Given the description of an element on the screen output the (x, y) to click on. 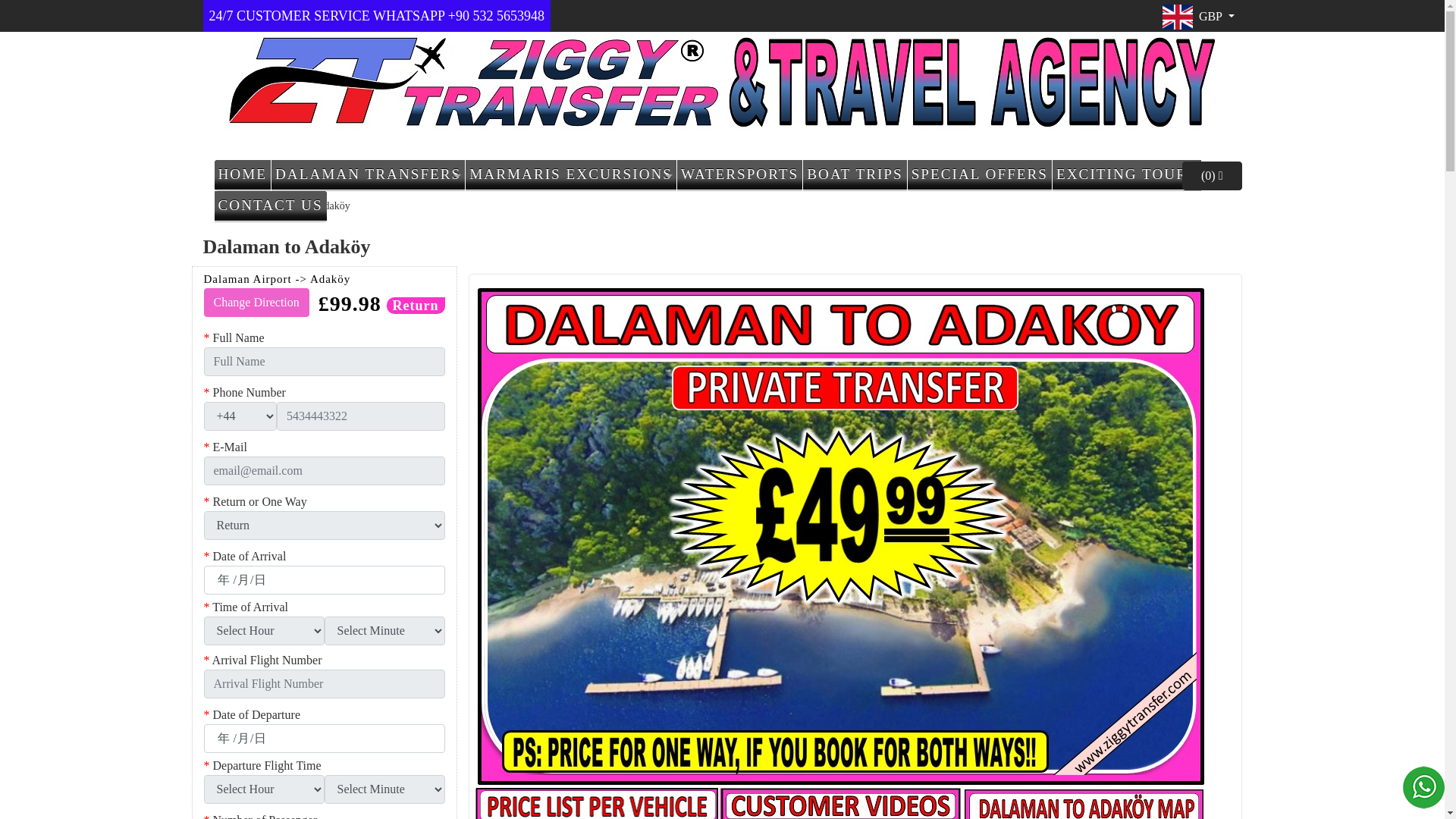
Watersports (739, 174)
WATERSPORTS (739, 174)
Home (242, 174)
 Exciting Tours (1126, 174)
HOME (242, 174)
EXCITING TOURS (1126, 174)
Special Offers (979, 174)
CONTACT US (270, 205)
CONTACT US (270, 205)
GBP (1197, 17)
